Given the description of an element on the screen output the (x, y) to click on. 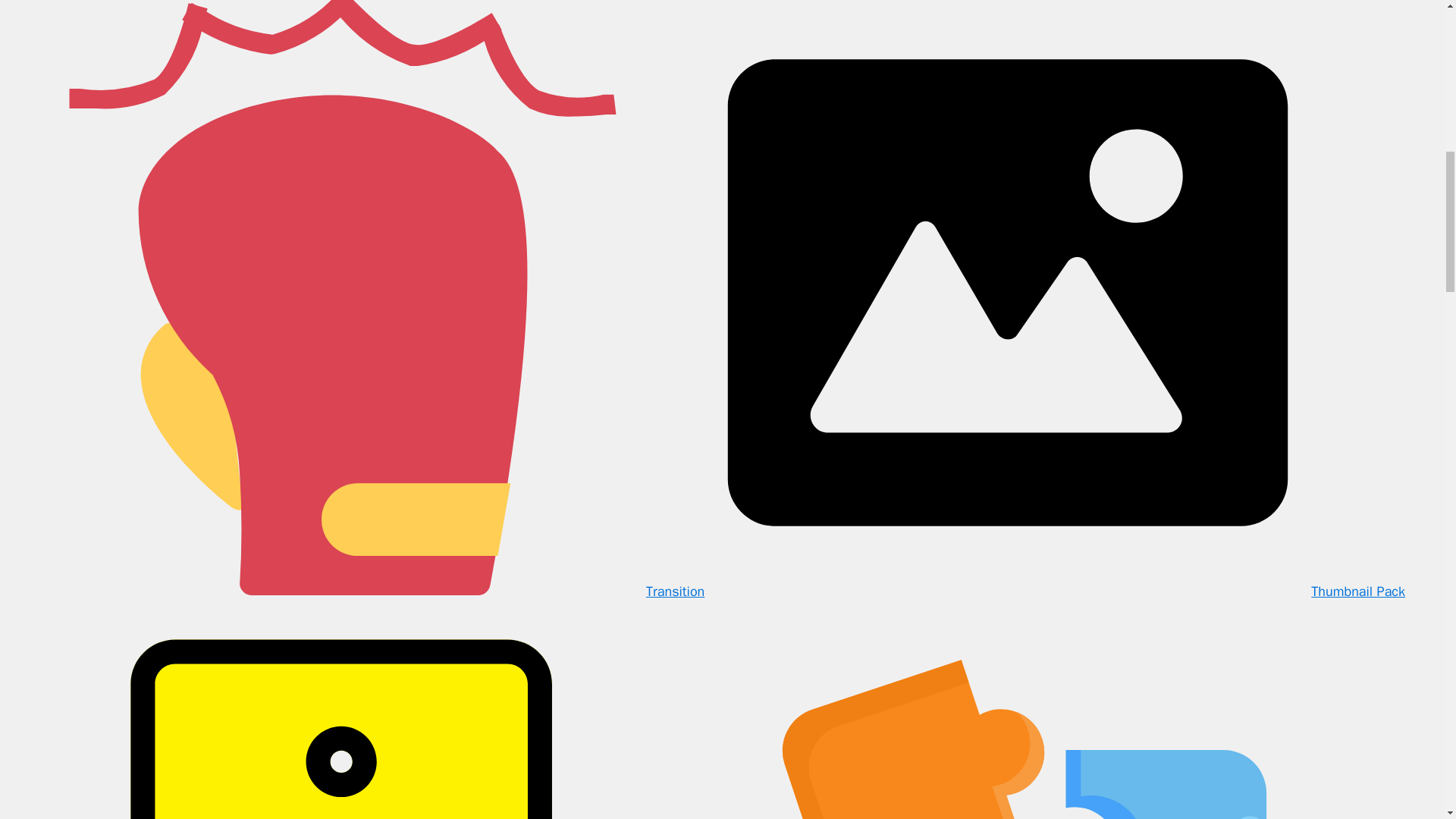
Thumbnail Pack (1054, 591)
Transition (371, 591)
